Given the description of an element on the screen output the (x, y) to click on. 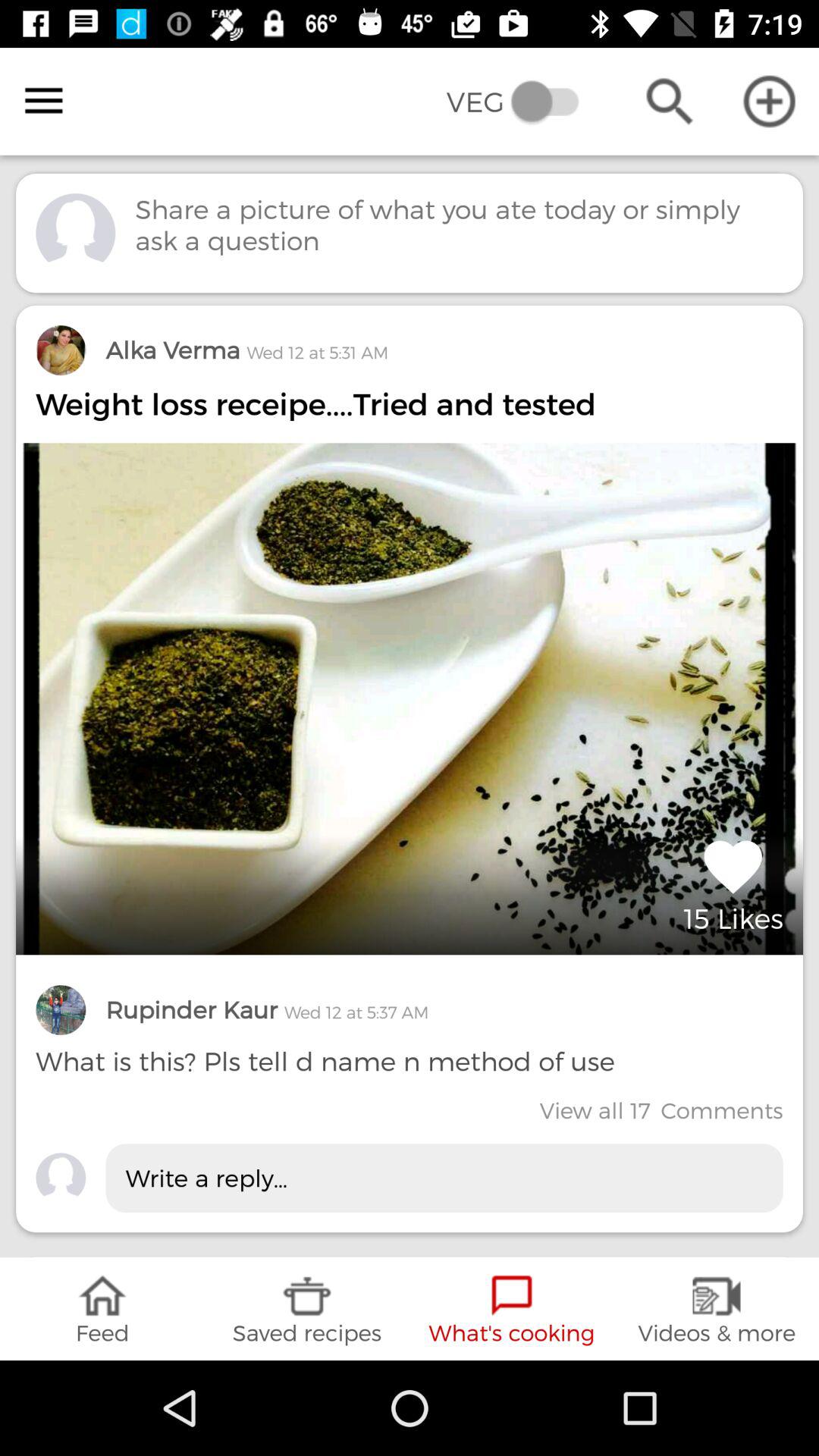
flip until the veg icon (522, 101)
